Given the description of an element on the screen output the (x, y) to click on. 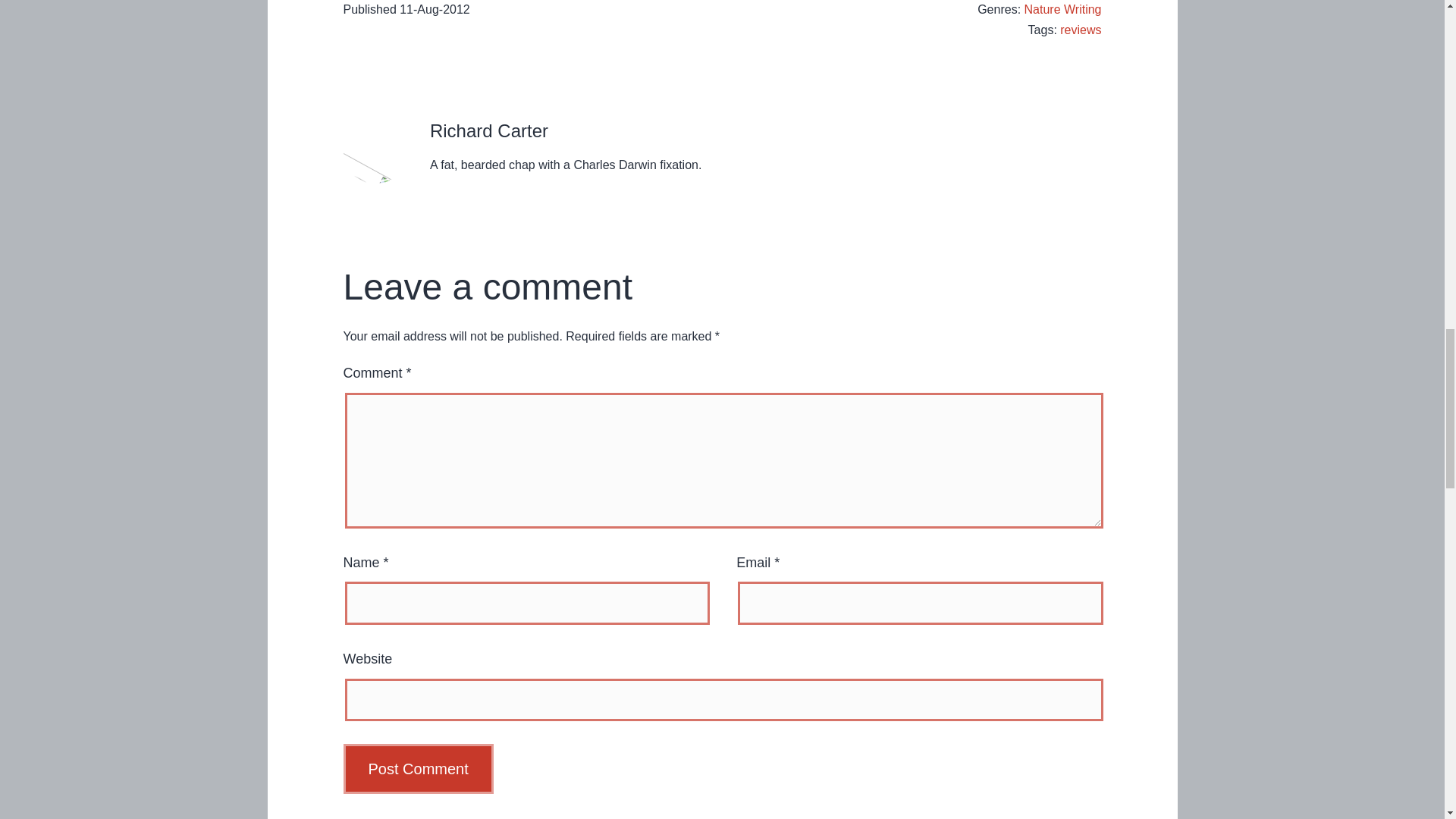
Post Comment (417, 768)
Nature Writing (1063, 9)
Post Comment (417, 768)
reviews (1079, 29)
